Given the description of an element on the screen output the (x, y) to click on. 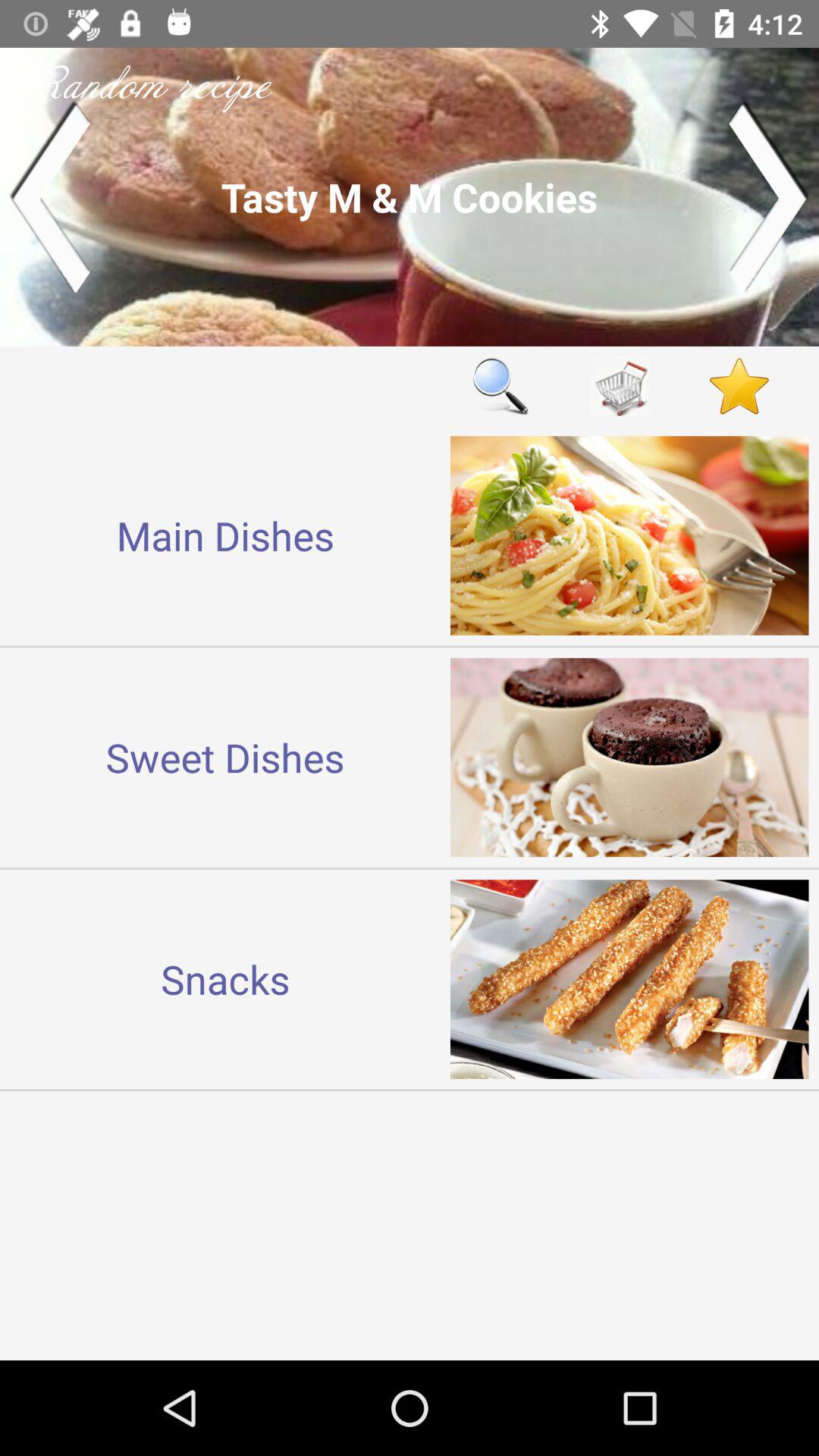
tap the icon above the sweet dishes item (225, 534)
